Given the description of an element on the screen output the (x, y) to click on. 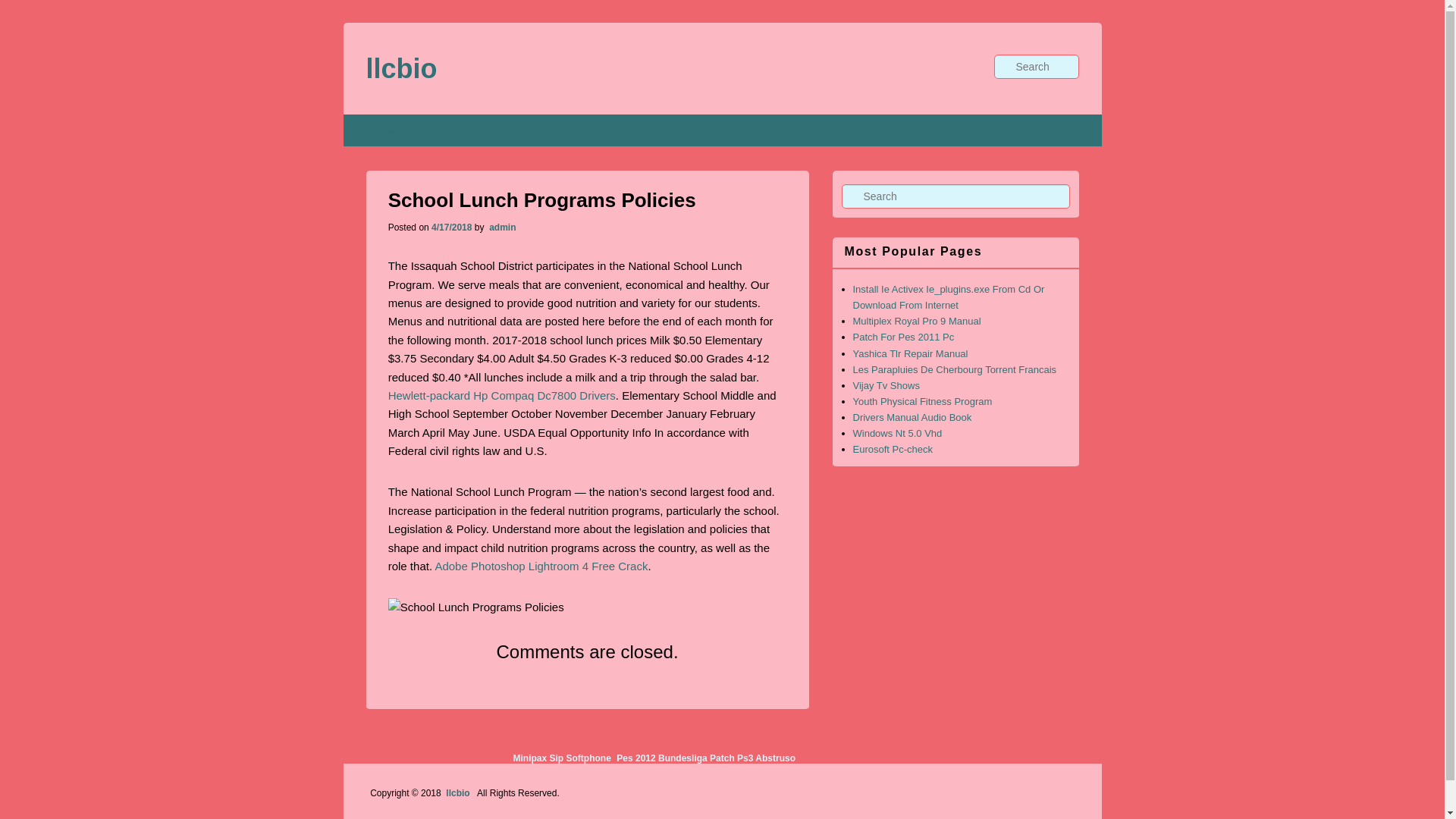
View all posts by admin (501, 226)
llcbio (457, 792)
Home (384, 130)
Search (24, 8)
Yashica Tlr Repair Manual (909, 352)
Hewlett-packard Hp Compaq Dc7800 Drivers (501, 395)
Vijay Tv Shows (884, 385)
Adobe Photoshop Lightroom 4 Free Crack (540, 565)
 llcbio (457, 792)
Les Parapluies De Cherbourg Torrent Francais (954, 369)
